Given the description of an element on the screen output the (x, y) to click on. 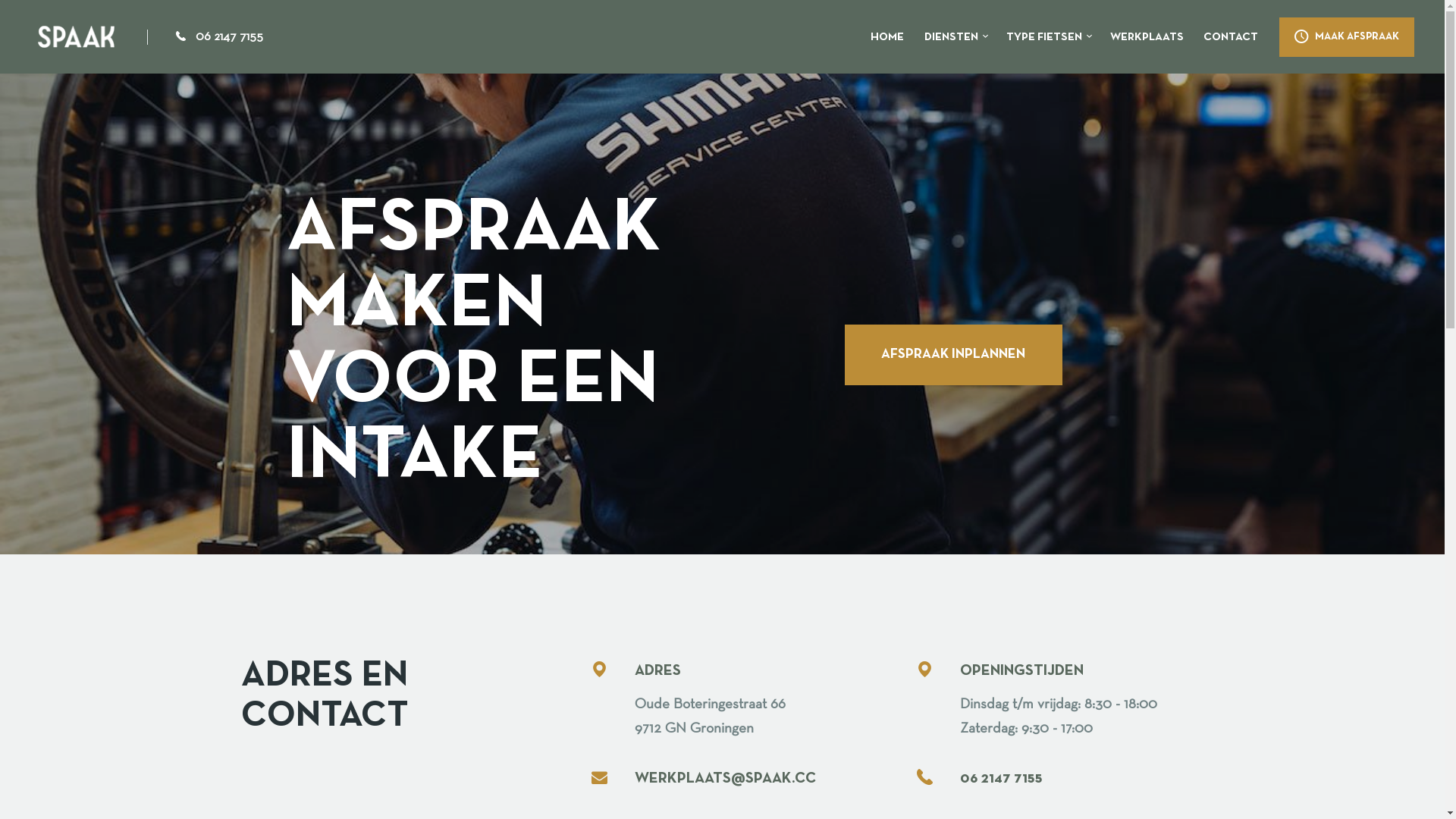
WERKPLAATS Element type: text (1146, 36)
HOME Element type: text (887, 36)
CONTACT Element type: text (1231, 36)
MAAK AFSPRAAK Element type: text (1346, 36)
06 2147 7155 Element type: text (216, 37)
AFSPRAAK INPLANNEN Element type: text (953, 354)
DIENSTEN Element type: text (955, 36)
TYPE FIETSEN Element type: text (1047, 36)
